Given the description of an element on the screen output the (x, y) to click on. 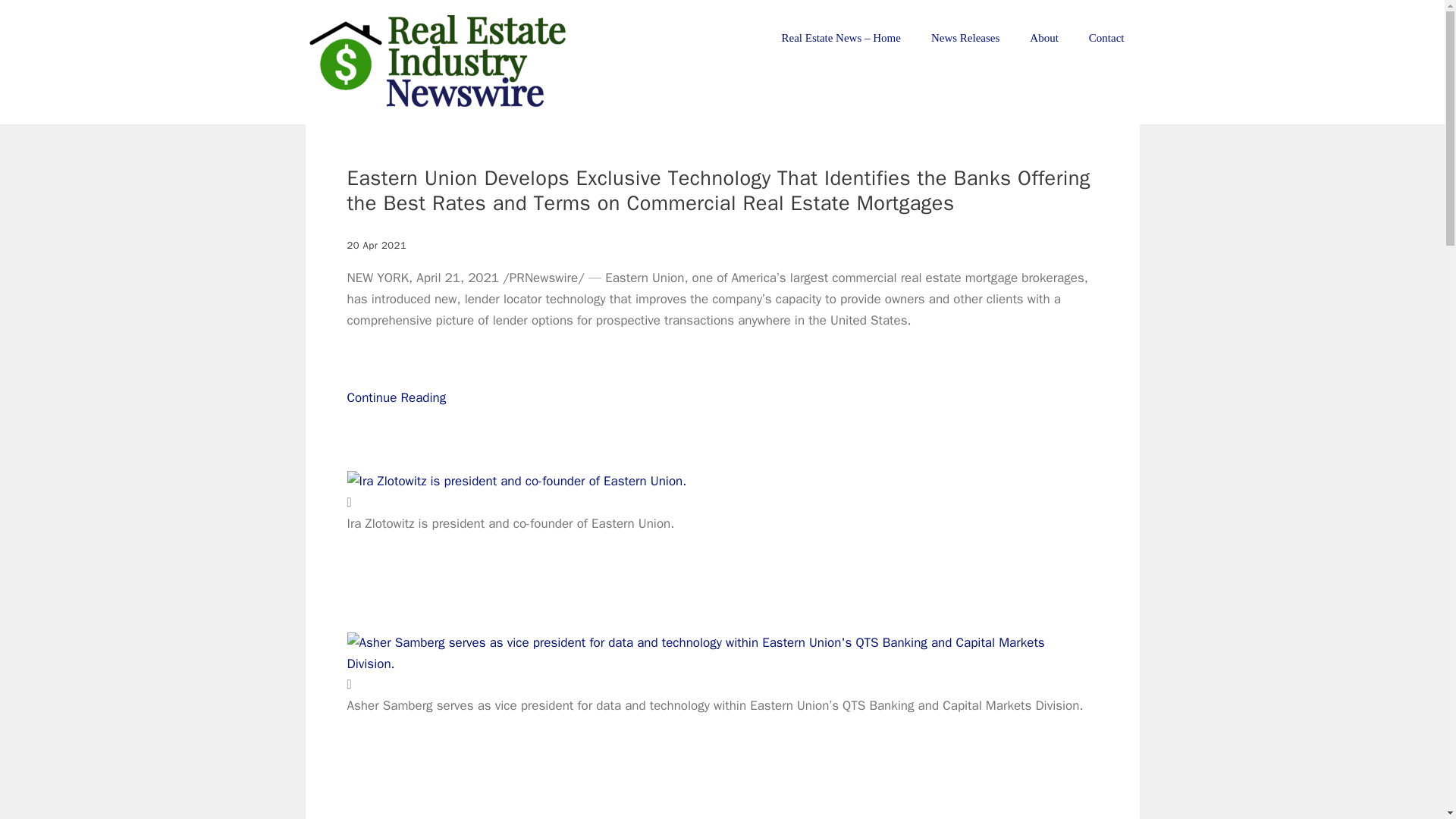
Contact (1107, 37)
Ira Zlotowitz is president and co-founder of Eastern Union. (517, 481)
News Releases (964, 37)
Continue Reading (396, 418)
About (1044, 37)
Continue Reading (396, 418)
